Given the description of an element on the screen output the (x, y) to click on. 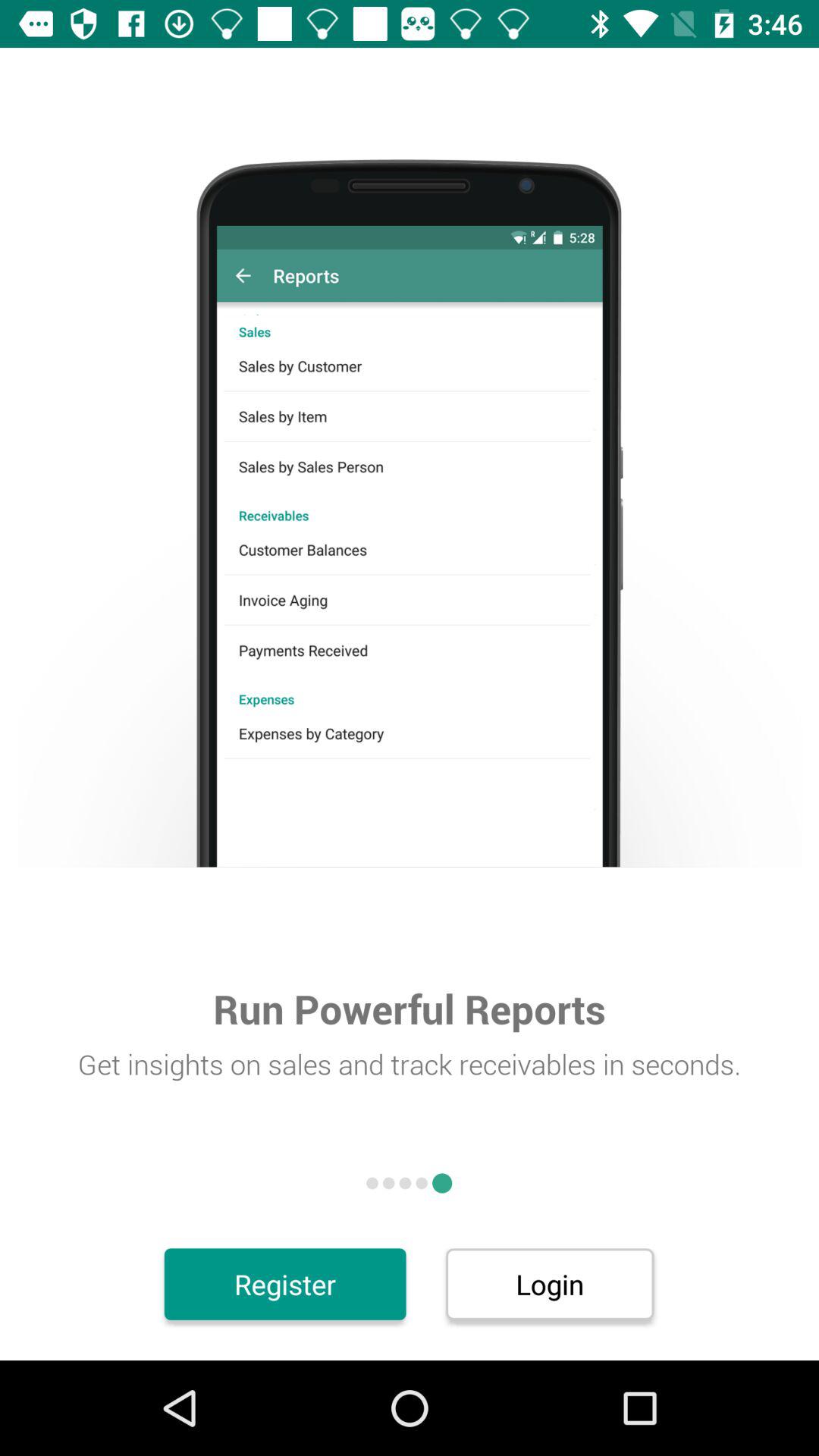
click the item to the left of login button (285, 1284)
